Given the description of an element on the screen output the (x, y) to click on. 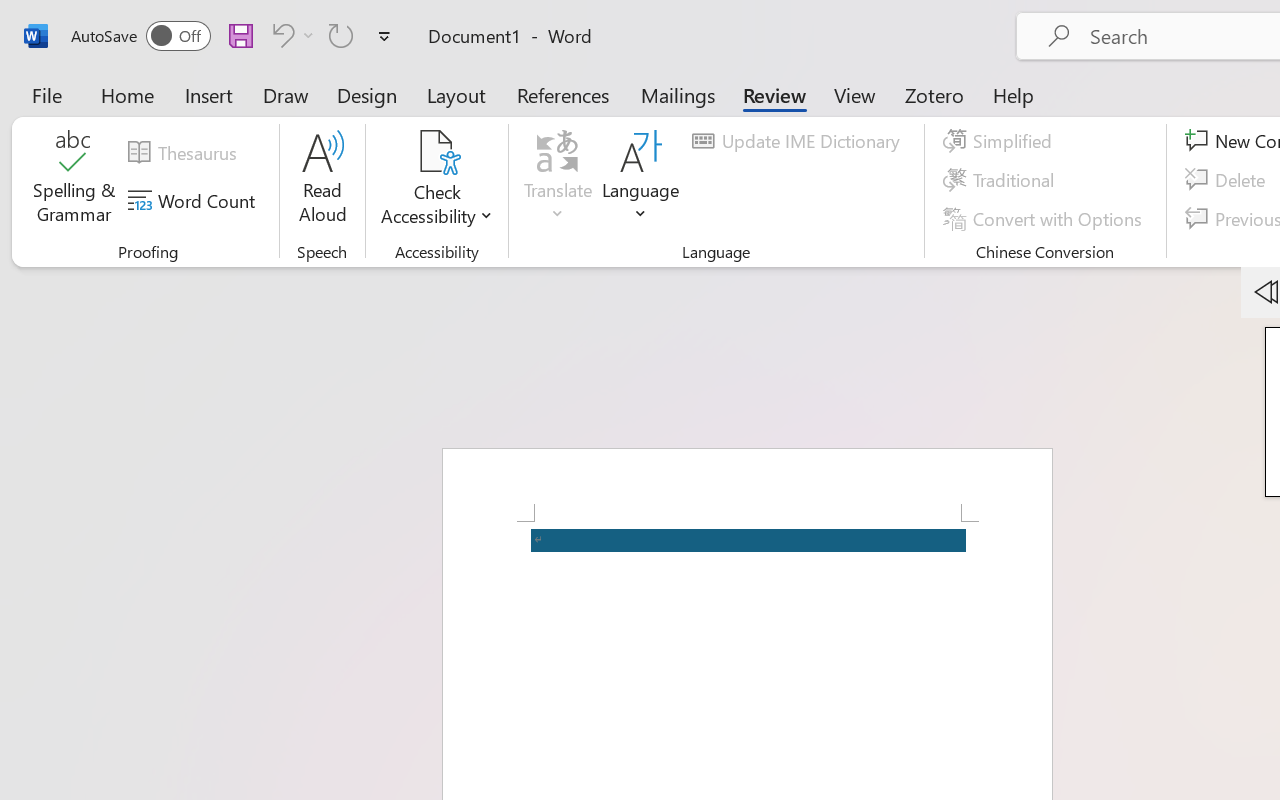
Update IME Dictionary... (799, 141)
Check Accessibility (436, 151)
Convert with Options... (1045, 218)
Language (641, 179)
Check Accessibility (436, 179)
Read Aloud (322, 179)
Delete (1227, 179)
Spelling & Grammar (74, 180)
